Given the description of an element on the screen output the (x, y) to click on. 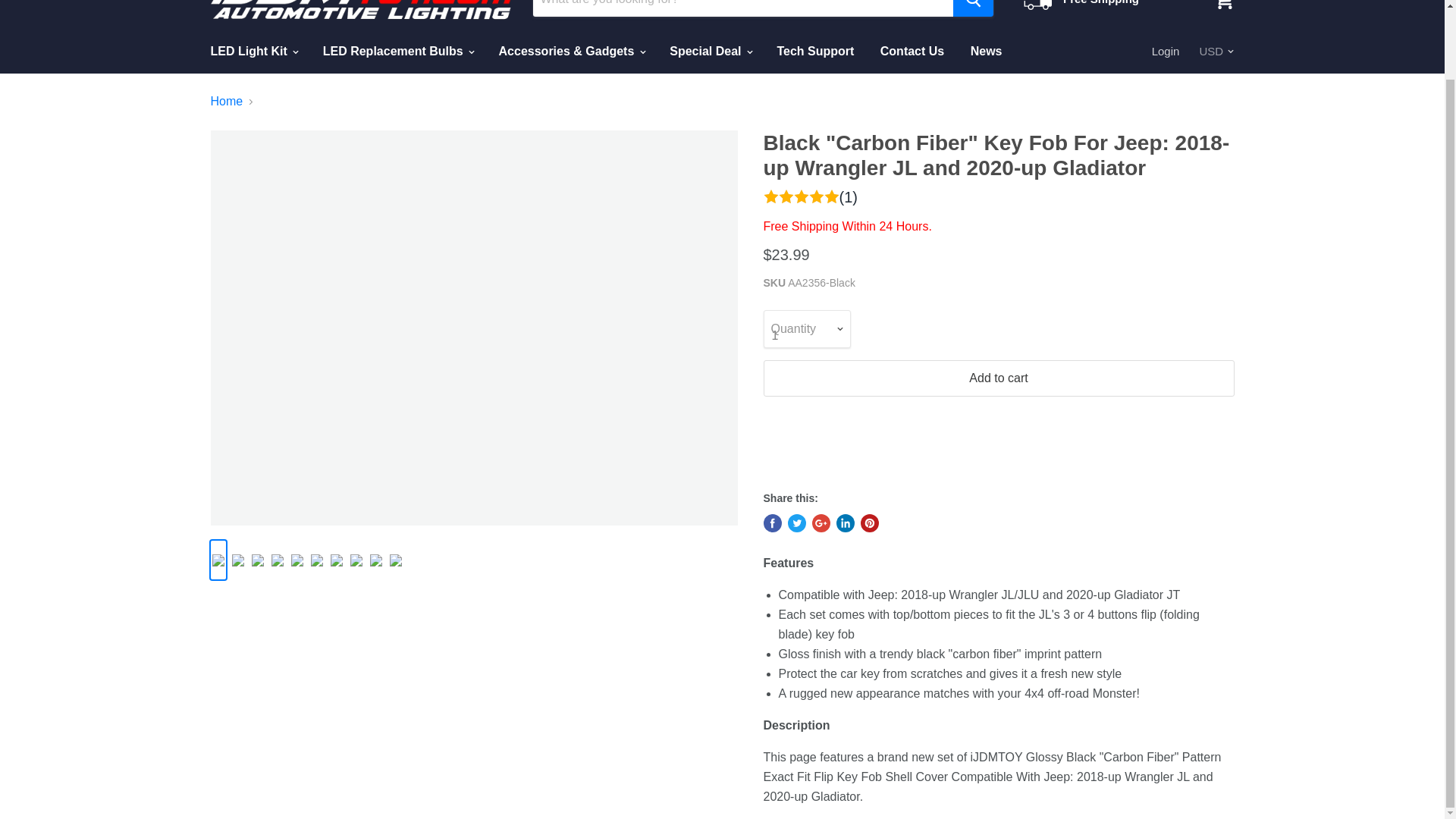
LED Light Kit (252, 51)
LED Replacement Bulbs (397, 51)
View cart (1223, 8)
